Given the description of an element on the screen output the (x, y) to click on. 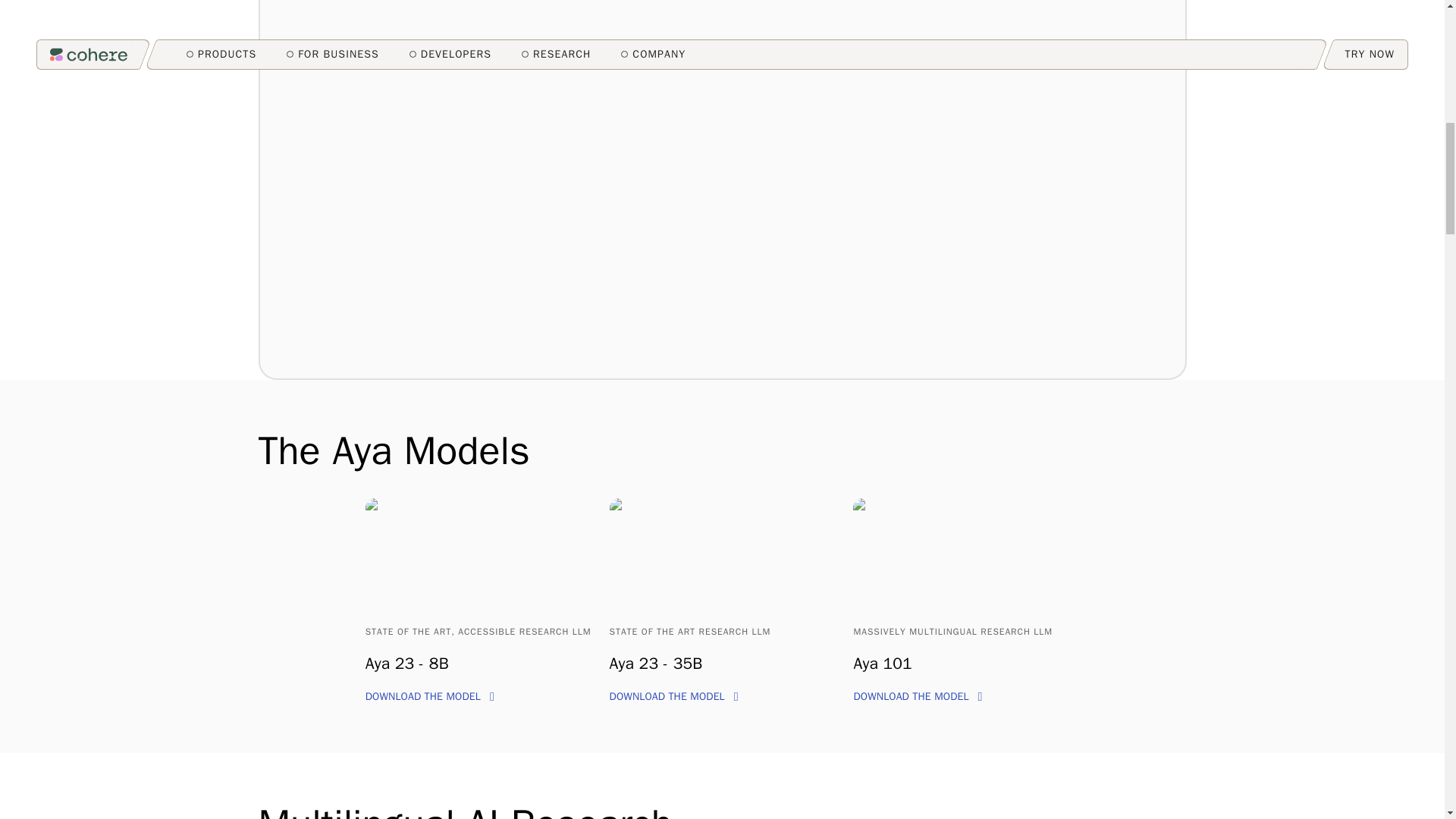
DOWNLOAD THE MODEL (430, 696)
DOWNLOAD THE MODEL (917, 696)
DOWNLOAD THE MODEL (674, 696)
